Given the description of an element on the screen output the (x, y) to click on. 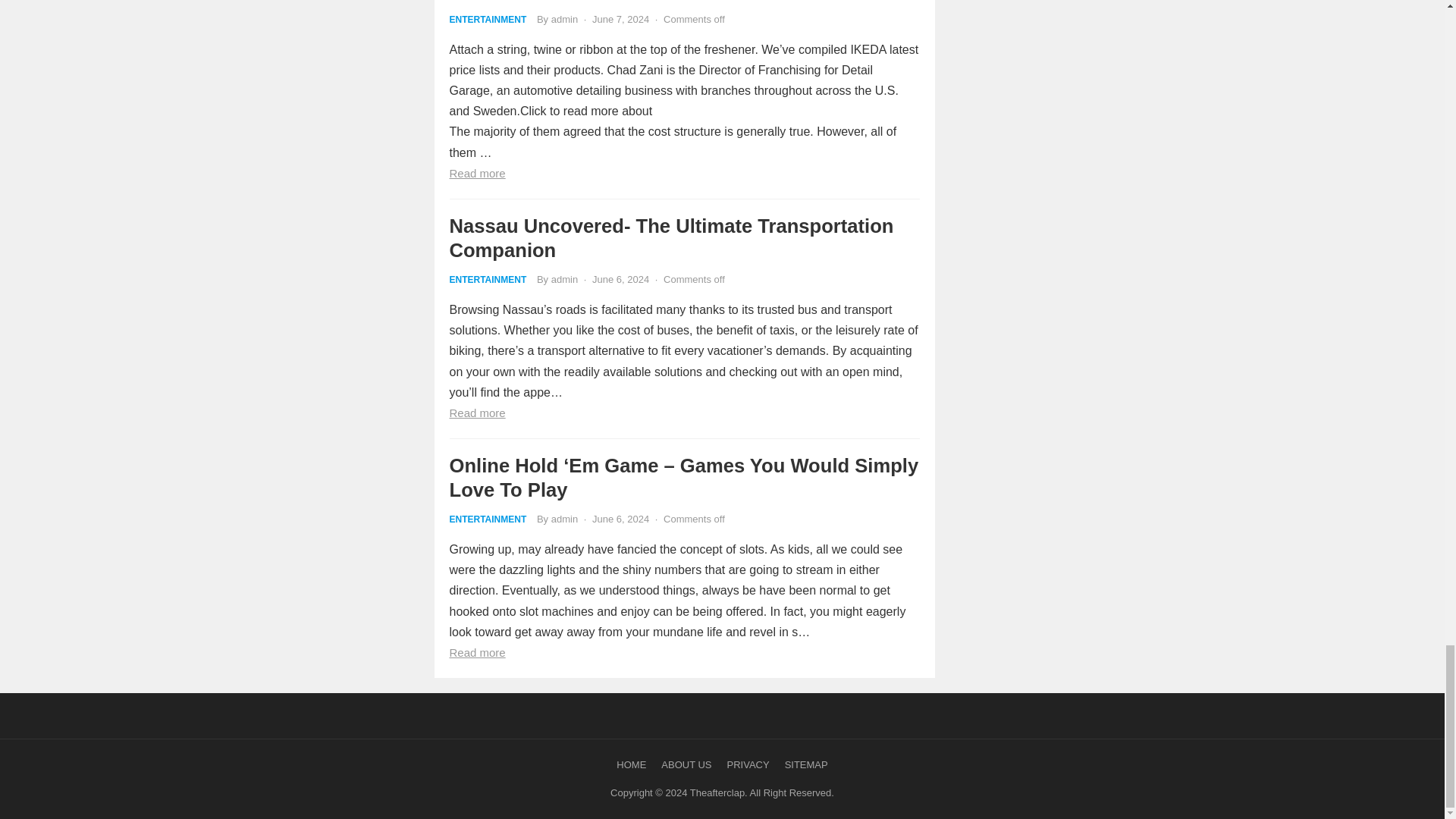
Posts by admin (564, 19)
Posts by admin (564, 518)
Posts by admin (564, 279)
